Given the description of an element on the screen output the (x, y) to click on. 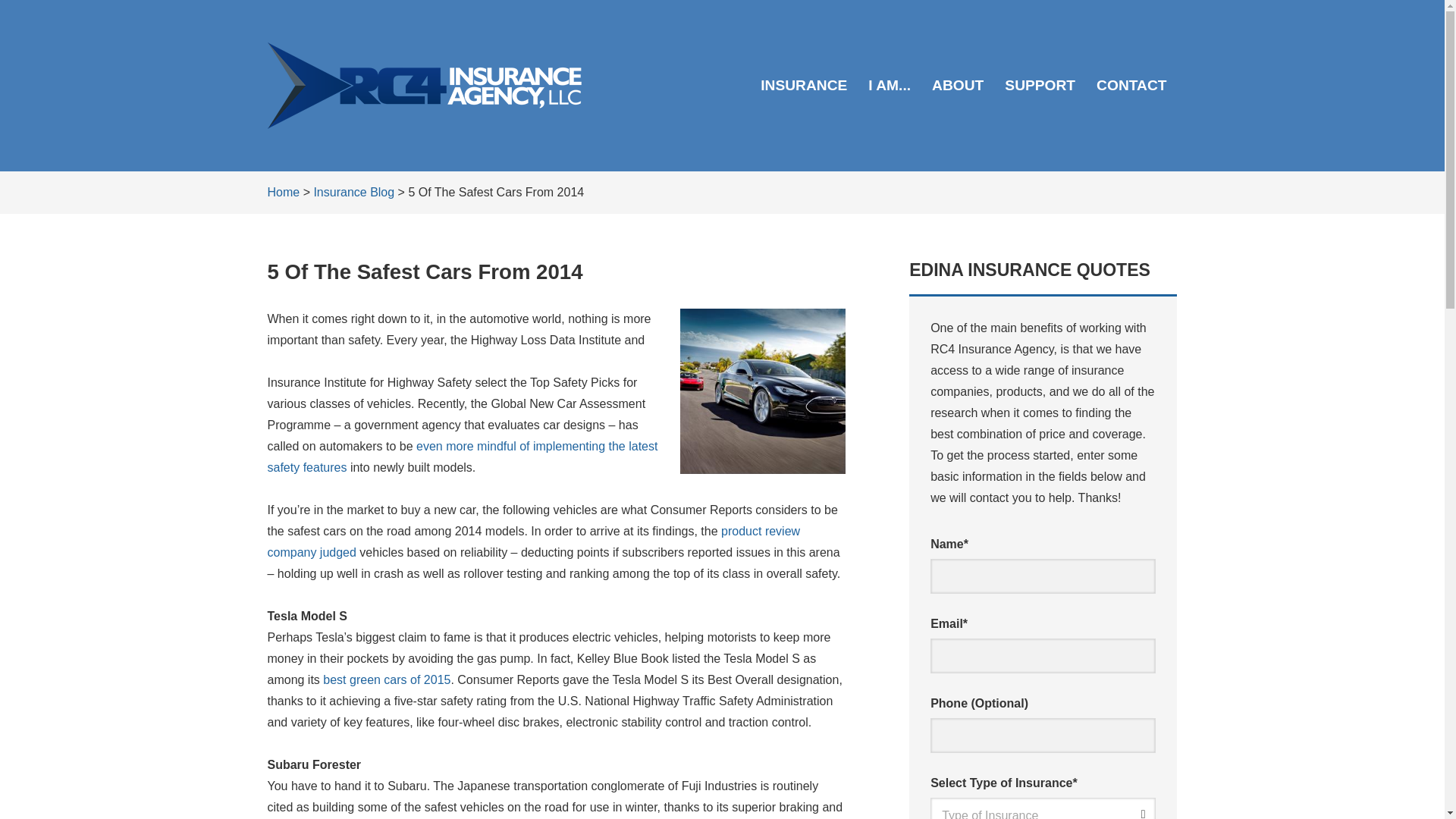
RC4 Insurance Agency (423, 85)
I AM... (889, 85)
INSURANCE (803, 85)
